Given the description of an element on the screen output the (x, y) to click on. 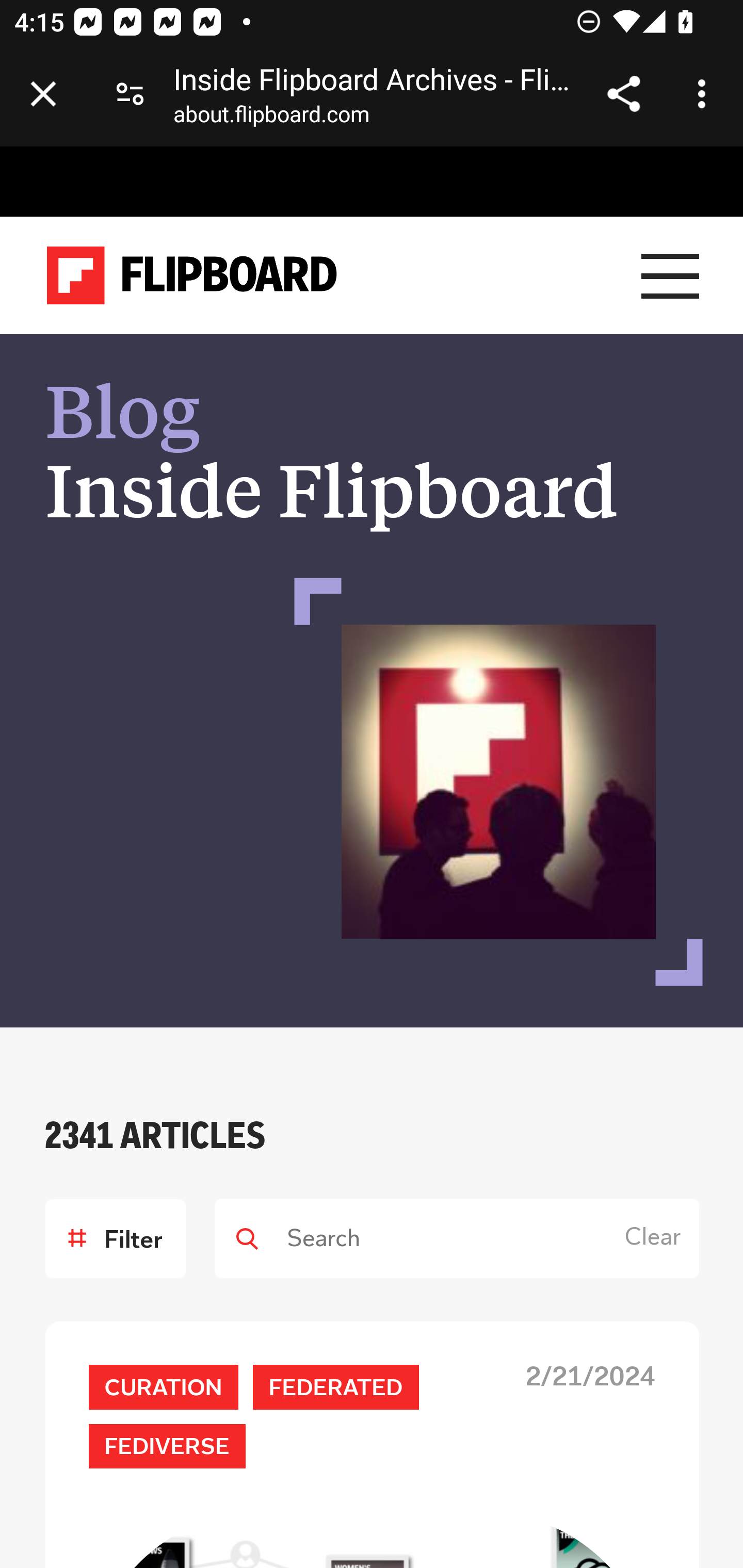
Close tab (43, 93)
Share link address (623, 93)
Customize and control Google Chrome (705, 93)
Connection is secure (129, 93)
about.flipboard.com (271, 117)
Flipboard Logo (192, 276)
 Filter (114, 1237)
Clear (656, 1238)
CURATION (162, 1386)
FEDERATED (335, 1386)
FEDIVERSE (166, 1445)
